Given the description of an element on the screen output the (x, y) to click on. 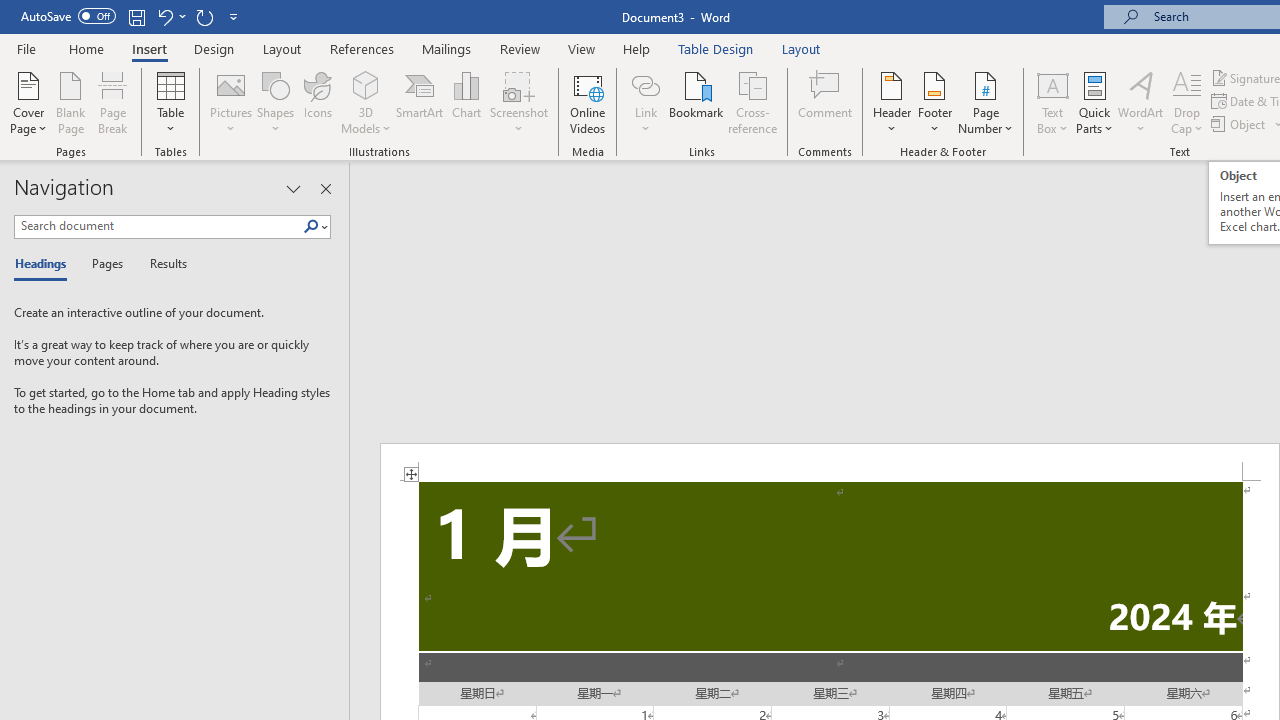
Table Design (715, 48)
Undo Increase Indent (170, 15)
Blank Page (70, 102)
Undo Increase Indent (164, 15)
Table (170, 102)
SmartArt... (419, 102)
Page Number (986, 102)
WordArt (1141, 102)
Footer (934, 102)
Headings (45, 264)
Results (161, 264)
